Given the description of an element on the screen output the (x, y) to click on. 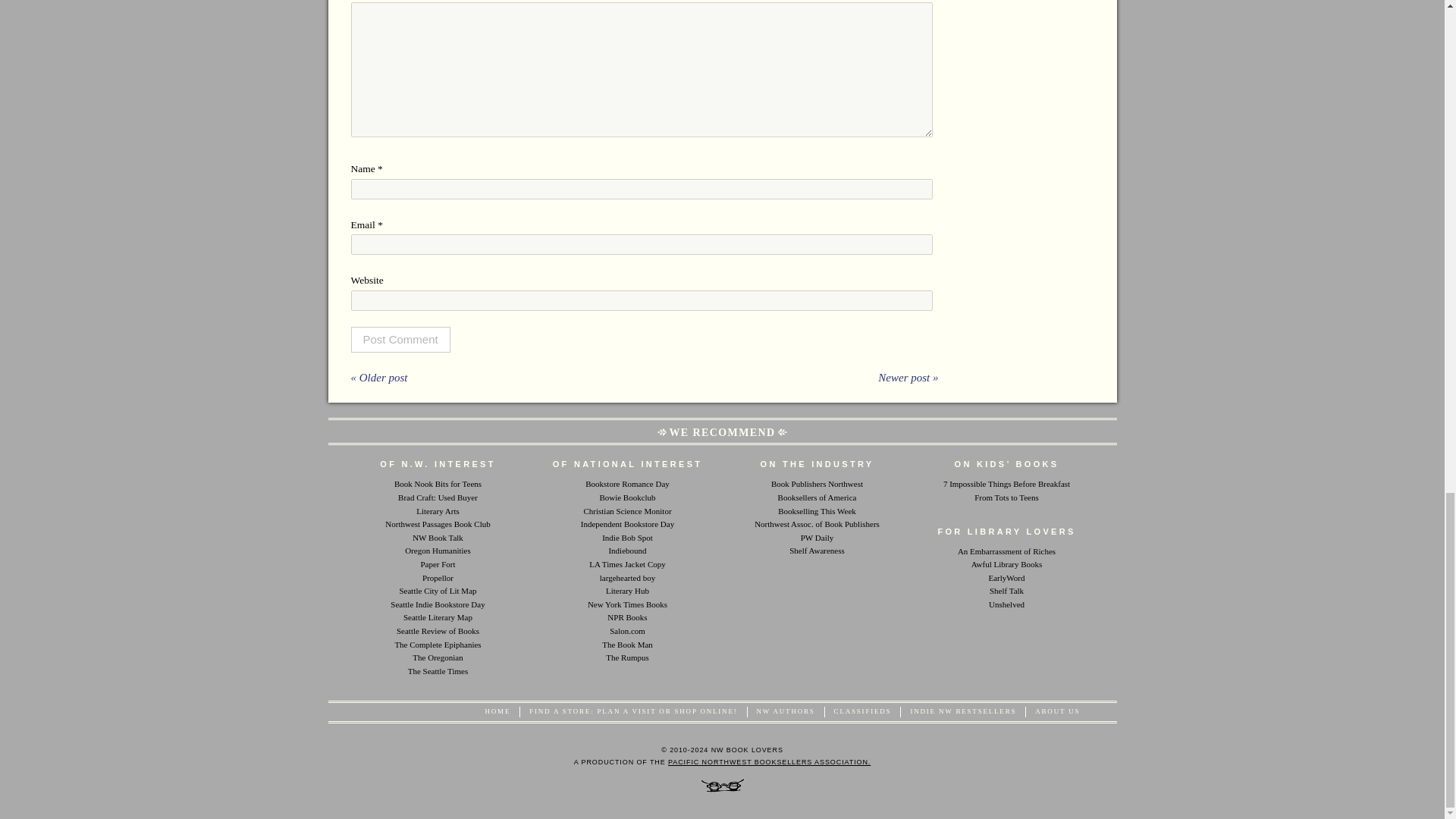
Support and celebrate your local indie! (627, 523)
Book recs and author interviews from the beautiful Northwest (437, 537)
Go to the association website (769, 761)
Post Comment (399, 339)
Book and Bible Repair (627, 644)
The Brian Doyle collection at The American Scholar (437, 644)
Aria is a teen book blogger from Eugene, OR (437, 483)
